Given the description of an element on the screen output the (x, y) to click on. 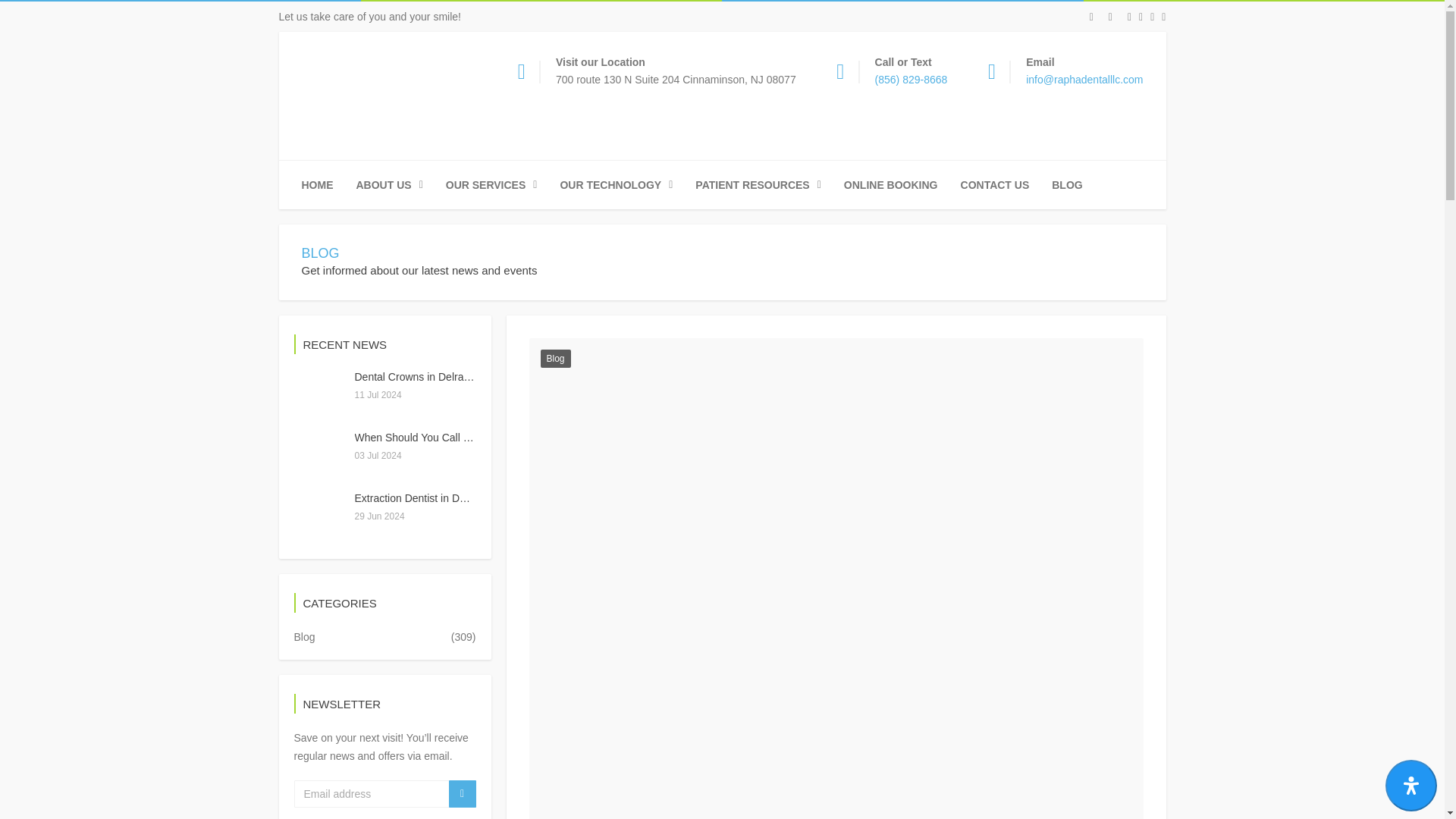
Dental Crowns in Delran NJ? (423, 377)
HOME (317, 184)
ABOUT US (389, 184)
Extraction Dentist in Delran (419, 498)
When Should You Call an Emergency Dentist in Delran? (487, 437)
OUR SERVICES (491, 184)
